Given the description of an element on the screen output the (x, y) to click on. 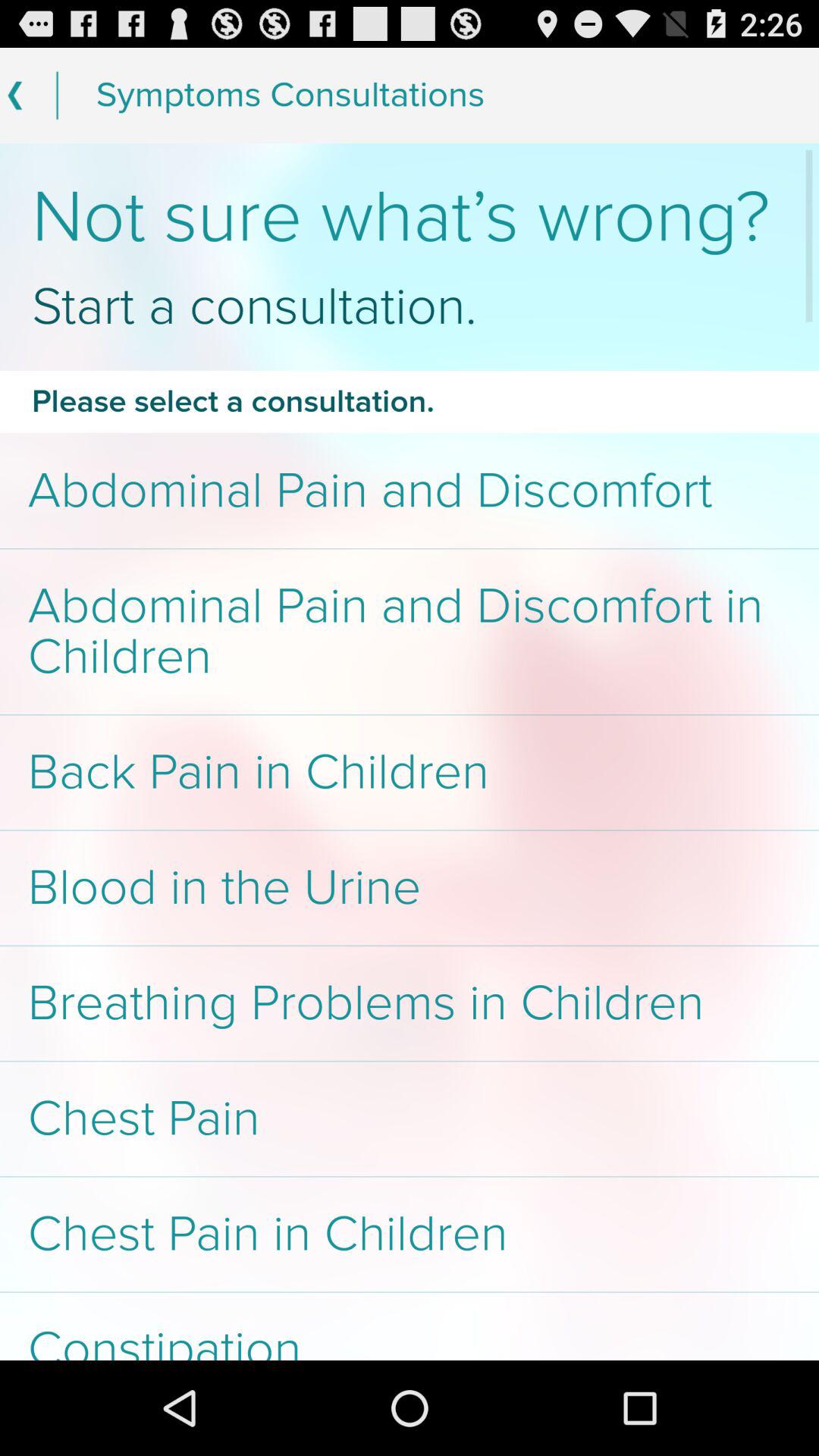
turn on item above the abdominal pain and item (409, 401)
